Given the description of an element on the screen output the (x, y) to click on. 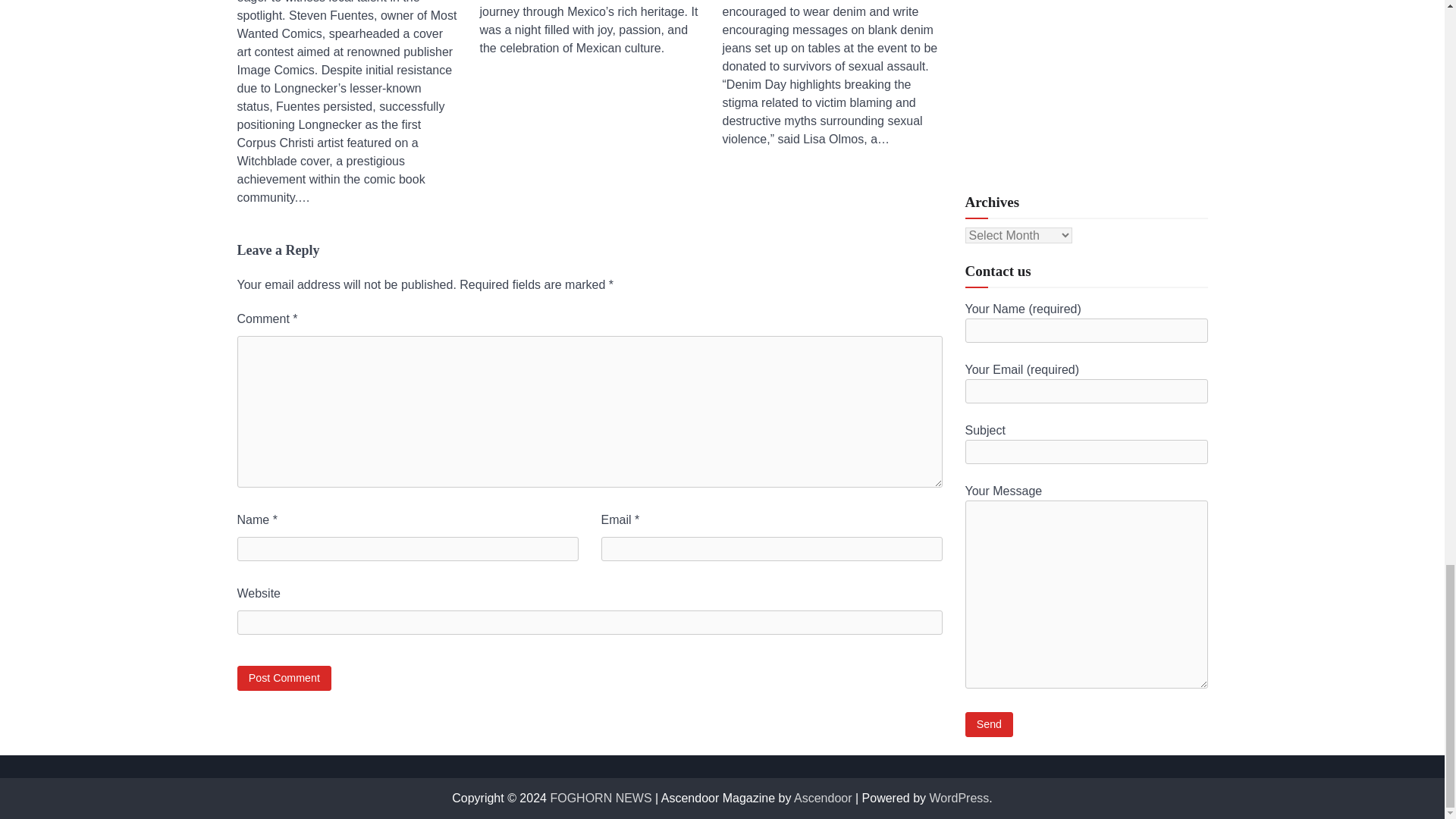
Post Comment (283, 678)
FOGHORN NEWS (600, 797)
WordPress (960, 797)
Ascendoor (822, 797)
Post Comment (283, 678)
